Given the description of an element on the screen output the (x, y) to click on. 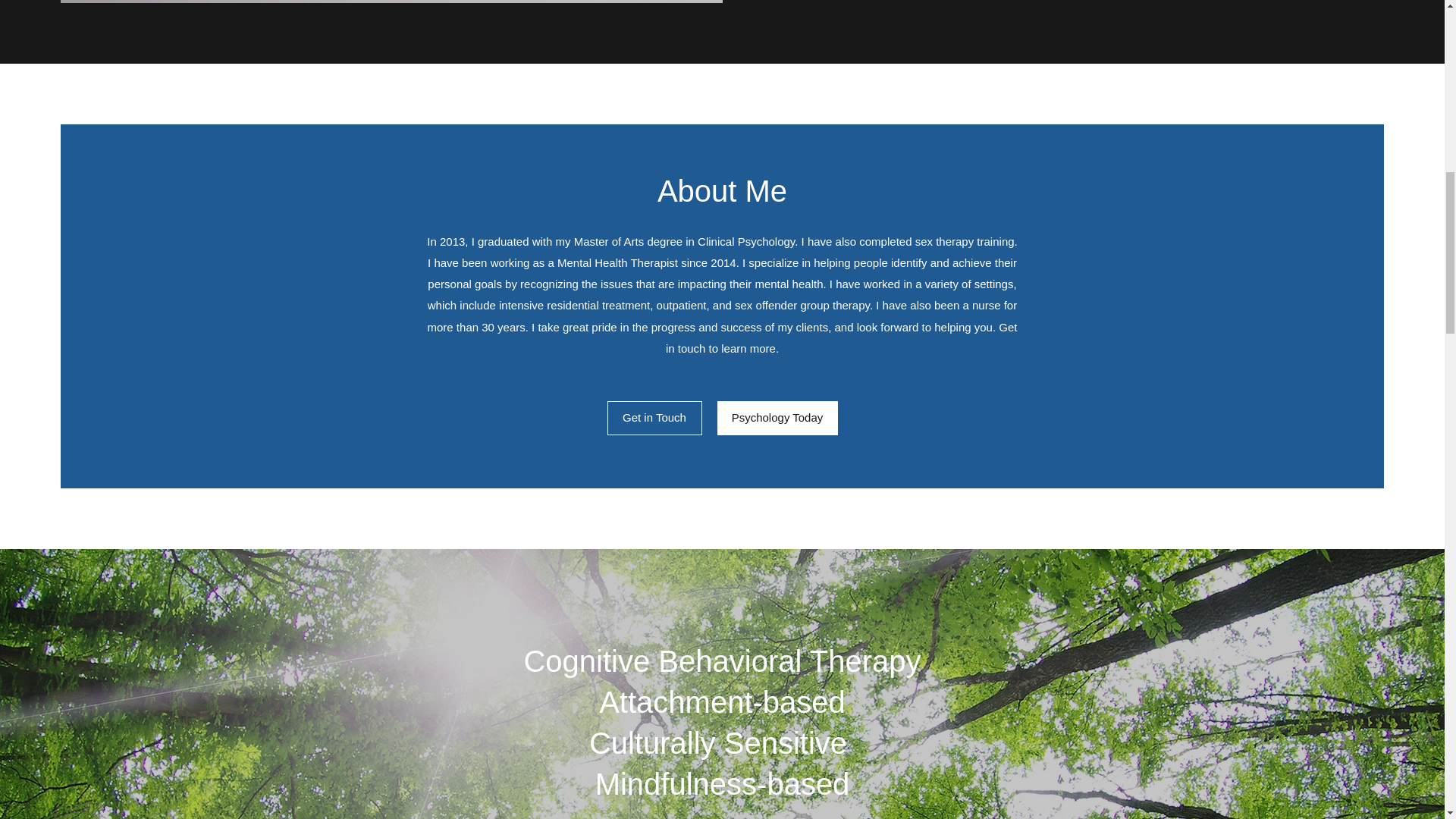
Psychology Today (777, 417)
Get in Touch (654, 417)
